Given the description of an element on the screen output the (x, y) to click on. 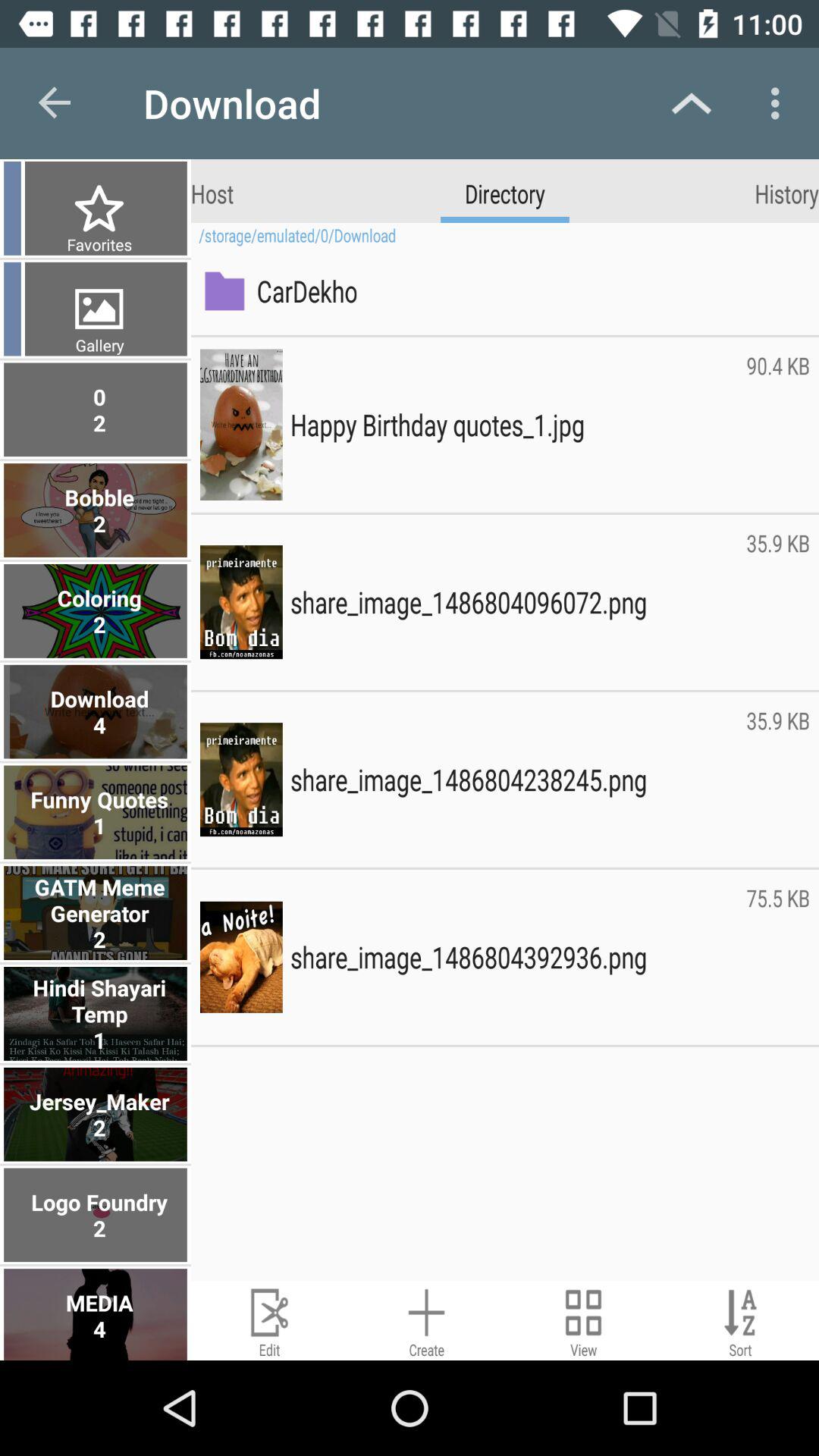
select icon above the storage emulated 0 (786, 193)
